Given the description of an element on the screen output the (x, y) to click on. 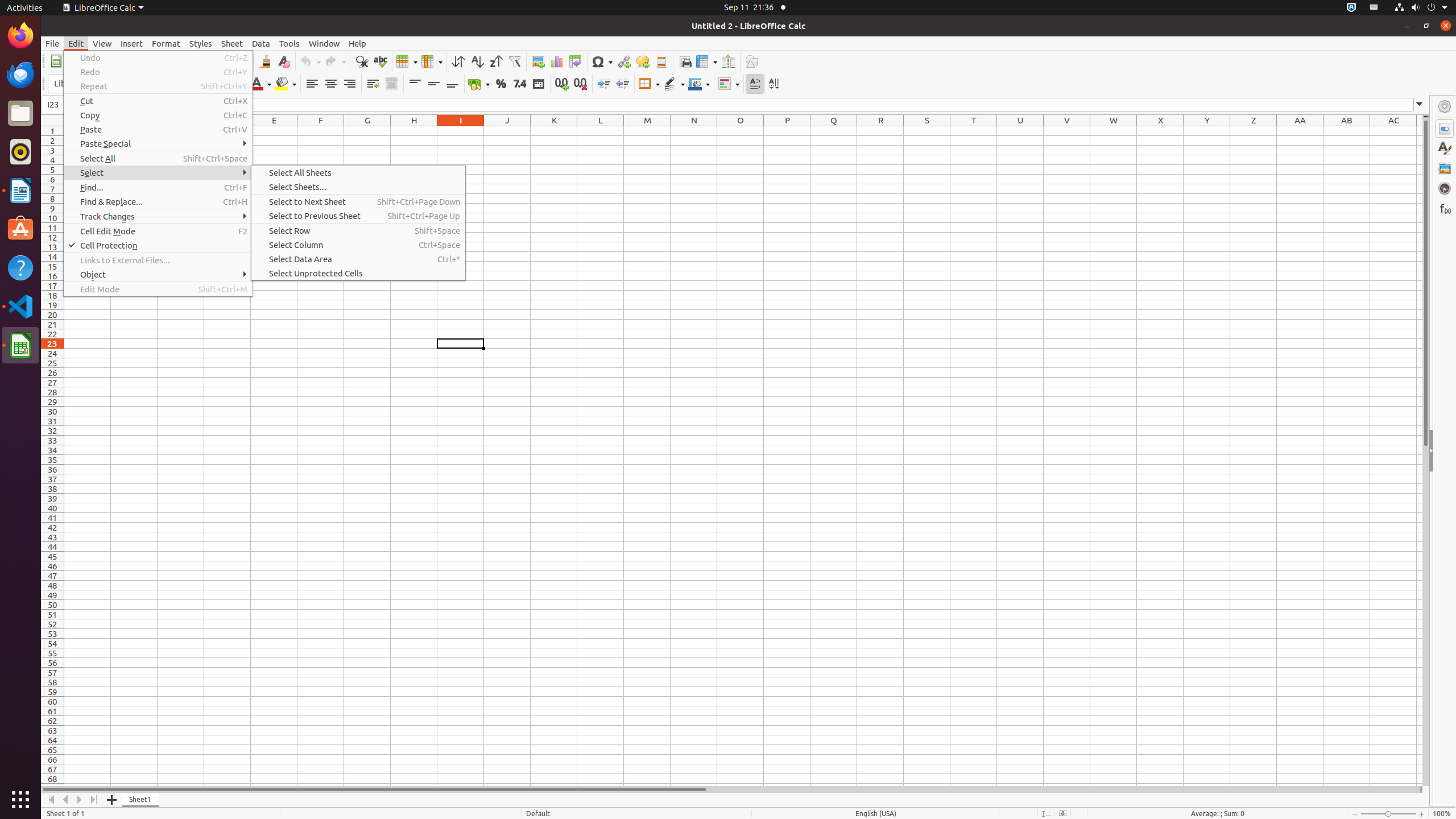
W1 Element type: table-cell (1113, 130)
Track Changes Element type: menu (157, 216)
Add Decimal Place Element type: push-button (561, 83)
Activities Element type: label (24, 7)
Select Row Element type: menu-item (358, 230)
